Given the description of an element on the screen output the (x, y) to click on. 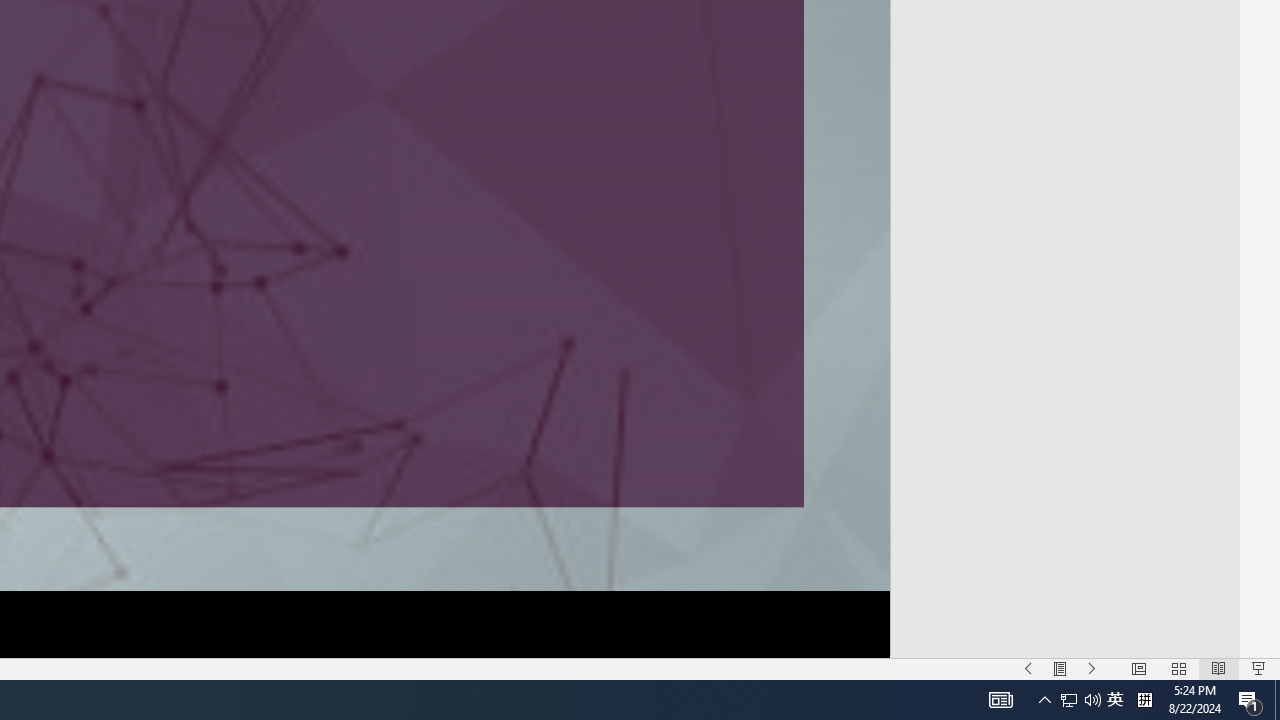
Slide Show Previous On (1028, 668)
Slide Show Next On (1092, 668)
Menu On (1060, 668)
